Given the description of an element on the screen output the (x, y) to click on. 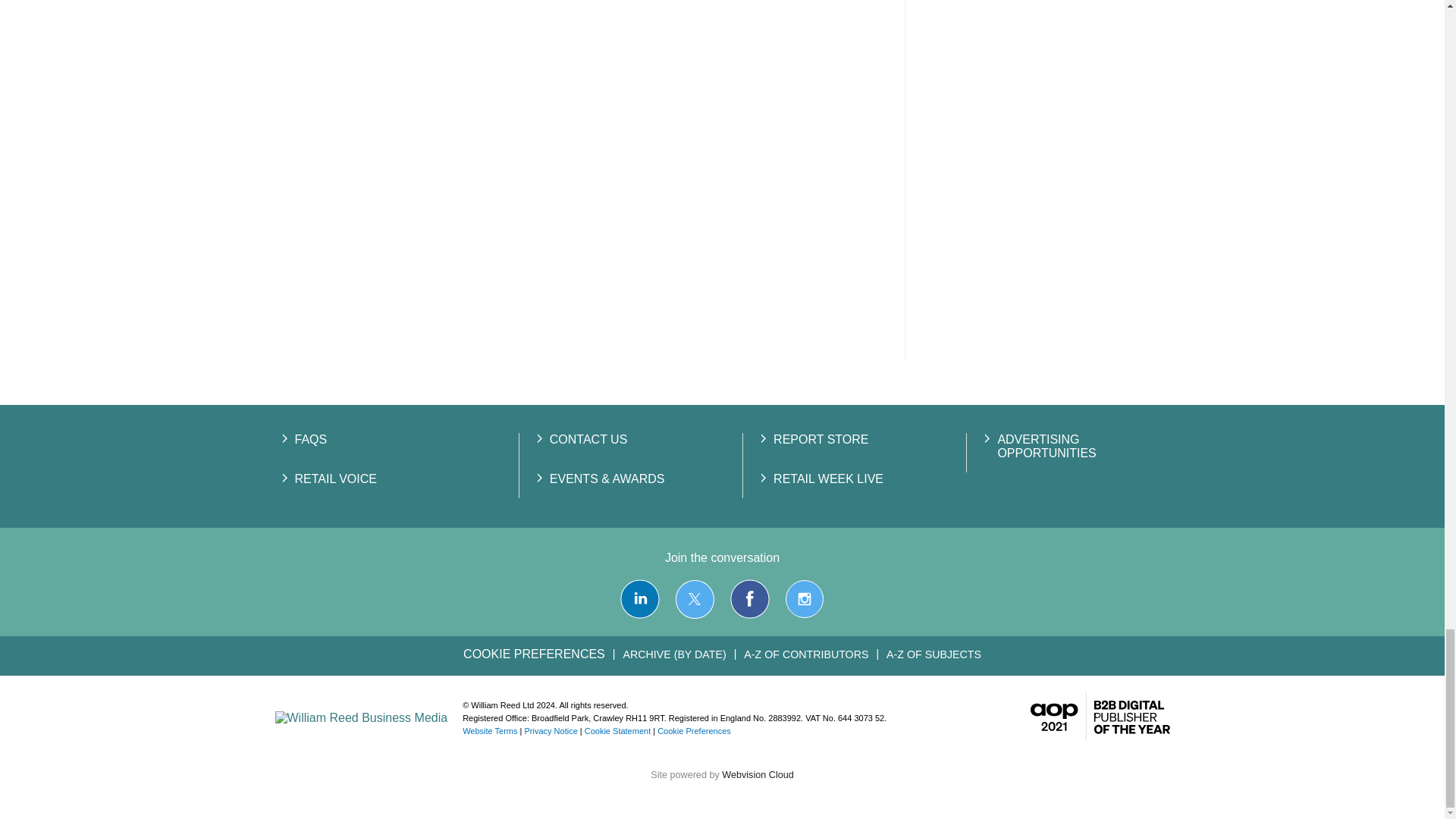
Connect with us on Facebook (750, 599)
Connect with us on LinkedIn (639, 599)
Connect with us on X (694, 599)
Connect with us on Instagram (804, 599)
